Given the description of an element on the screen output the (x, y) to click on. 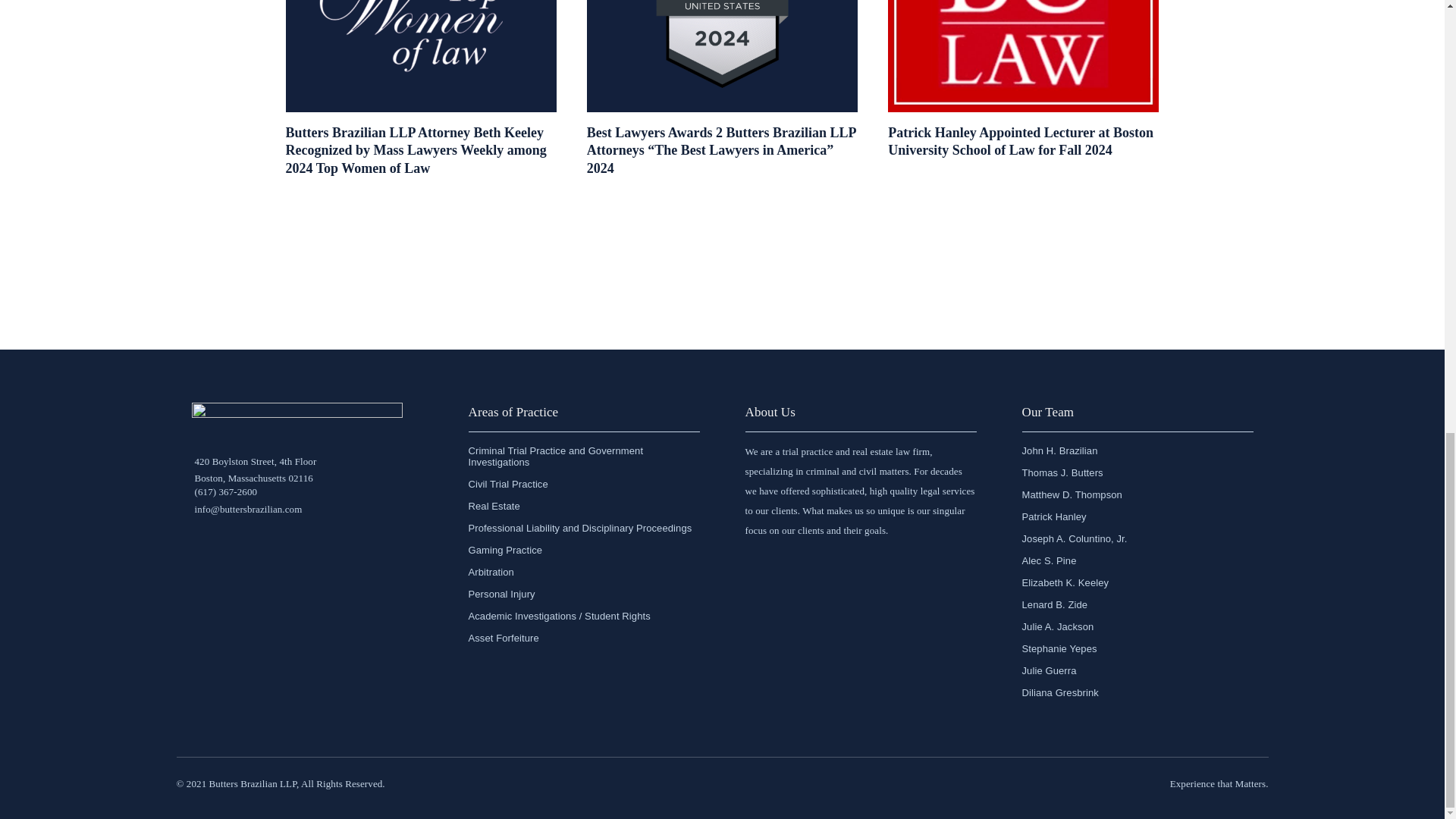
Criminal Trial Practice and Government Investigations (580, 456)
Professional Liability and Disciplinary Proceedings (580, 527)
Real Estate (580, 505)
Civil Trial Practice (580, 483)
Gaming Practice (580, 550)
Personal Injury (580, 593)
Arbitration (580, 572)
